Given the description of an element on the screen output the (x, y) to click on. 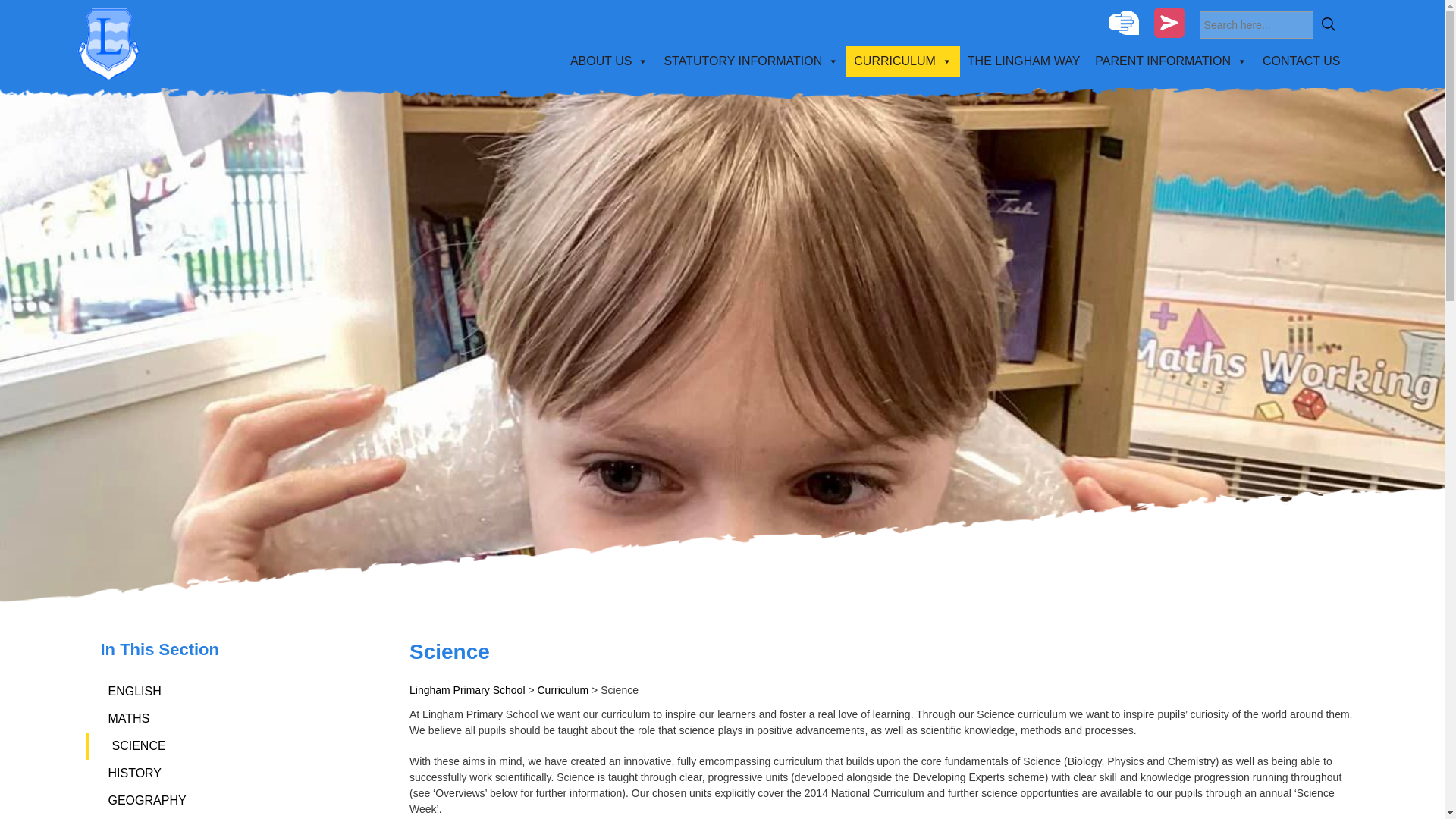
STATUTORY INFORMATION (750, 60)
PARENT INFORMATION (1171, 60)
ABOUT US (609, 60)
Go to Lingham Primary School. (467, 690)
CURRICULUM (902, 60)
THE LINGHAM WAY (1023, 60)
Go to Curriculum. (562, 690)
